Given the description of an element on the screen output the (x, y) to click on. 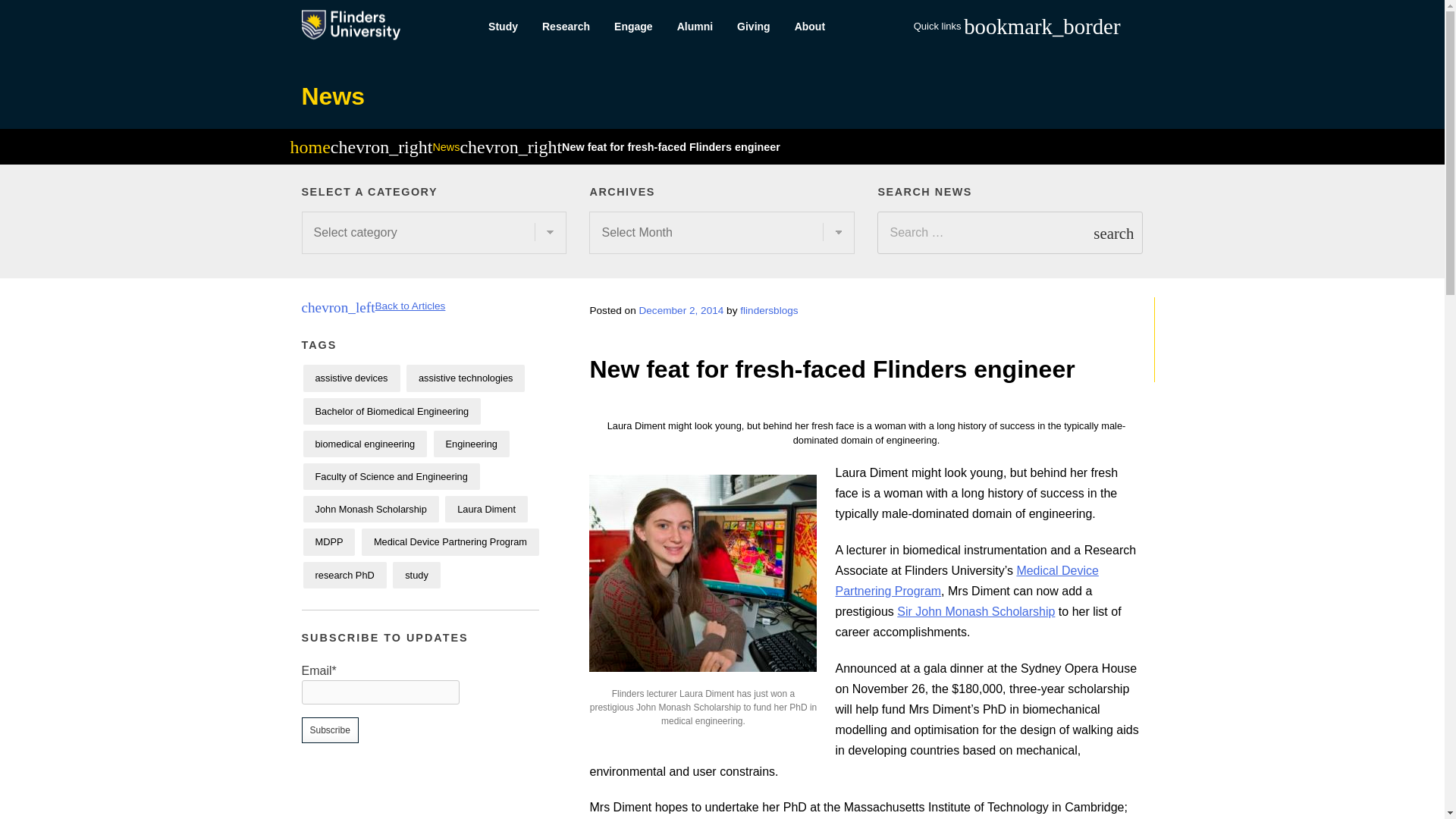
Medical Device Partnering Program (449, 541)
Giving (754, 26)
Faculty of Science and Engineering (391, 476)
December 2, 2014 (681, 310)
Subscribe (329, 729)
biomedical engineering (365, 443)
home (309, 149)
News (333, 95)
search (1113, 232)
Medical Device Partnering Program (965, 580)
assistive technologies (465, 377)
About (810, 26)
MDPP (328, 541)
assistive devices (351, 377)
Laura Diment (486, 509)
